Given the description of an element on the screen output the (x, y) to click on. 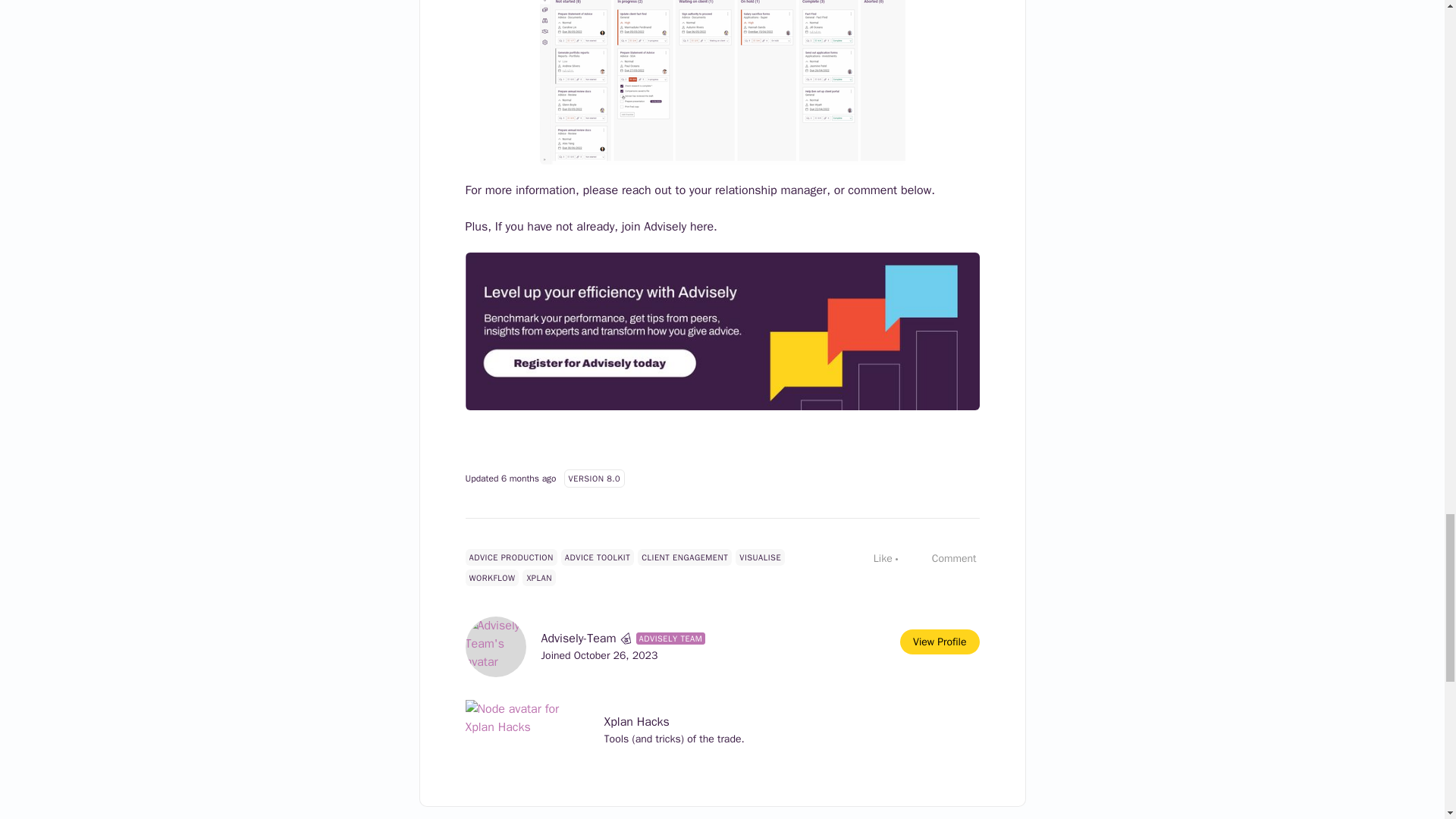
March 13, 2024 at 7:26 AM (528, 478)
Comment (945, 558)
CLIENT ENGAGEMENT (684, 556)
Like (874, 558)
Advisely-Team (578, 638)
WORKFLOW (492, 577)
View Profile (938, 641)
join Advisely here.  (677, 226)
VISUALISE (759, 556)
XPLAN (539, 577)
